Given the description of an element on the screen output the (x, y) to click on. 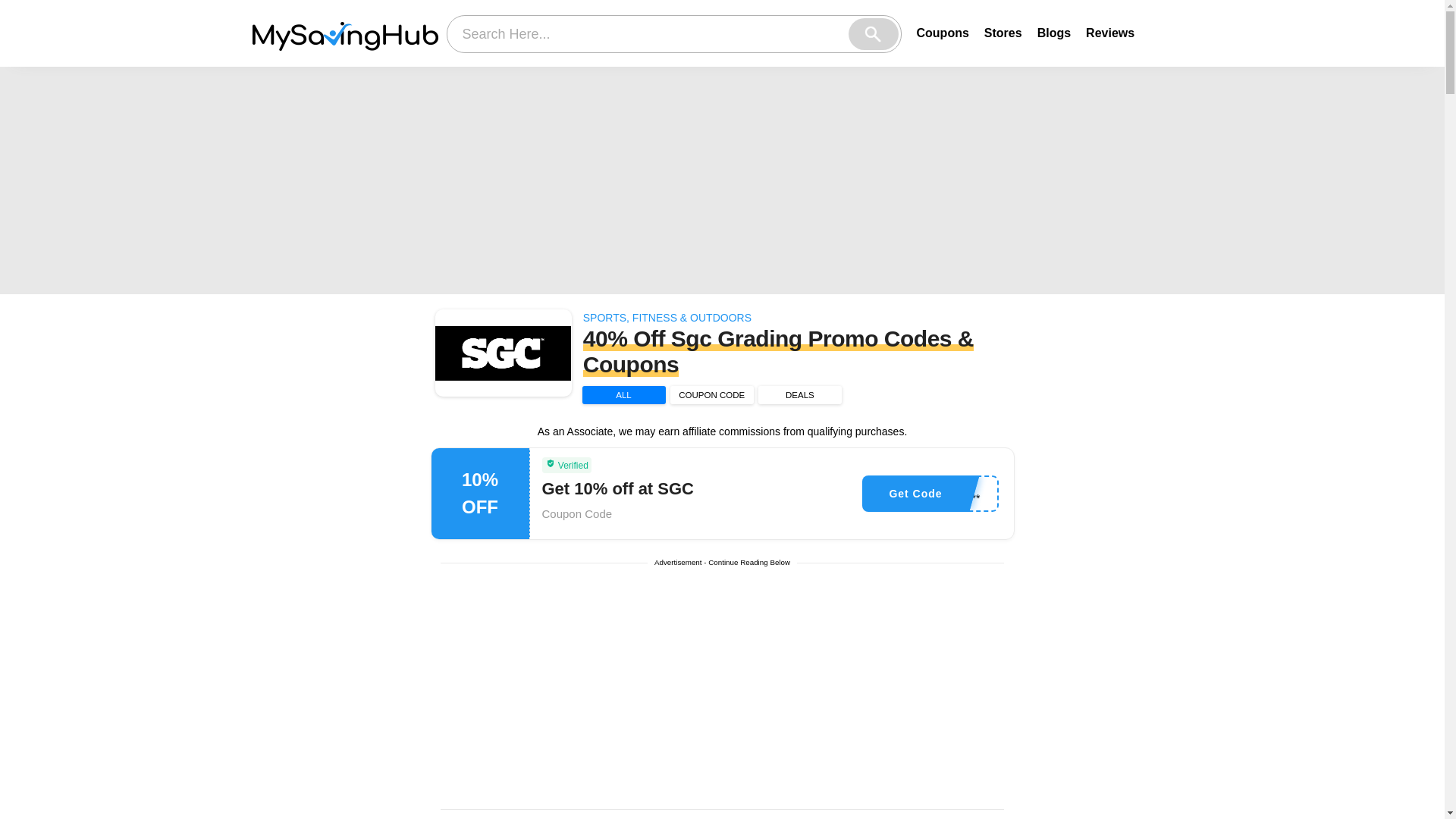
MySavingHub HOME PAGE (344, 33)
Coupon Code (576, 513)
Coupons (941, 32)
Reviews (1110, 32)
SGC Grading coupon codes, promo codes and voucher (503, 352)
Blogs (1053, 32)
Stores (1003, 32)
Advertisement (722, 693)
